Given the description of an element on the screen output the (x, y) to click on. 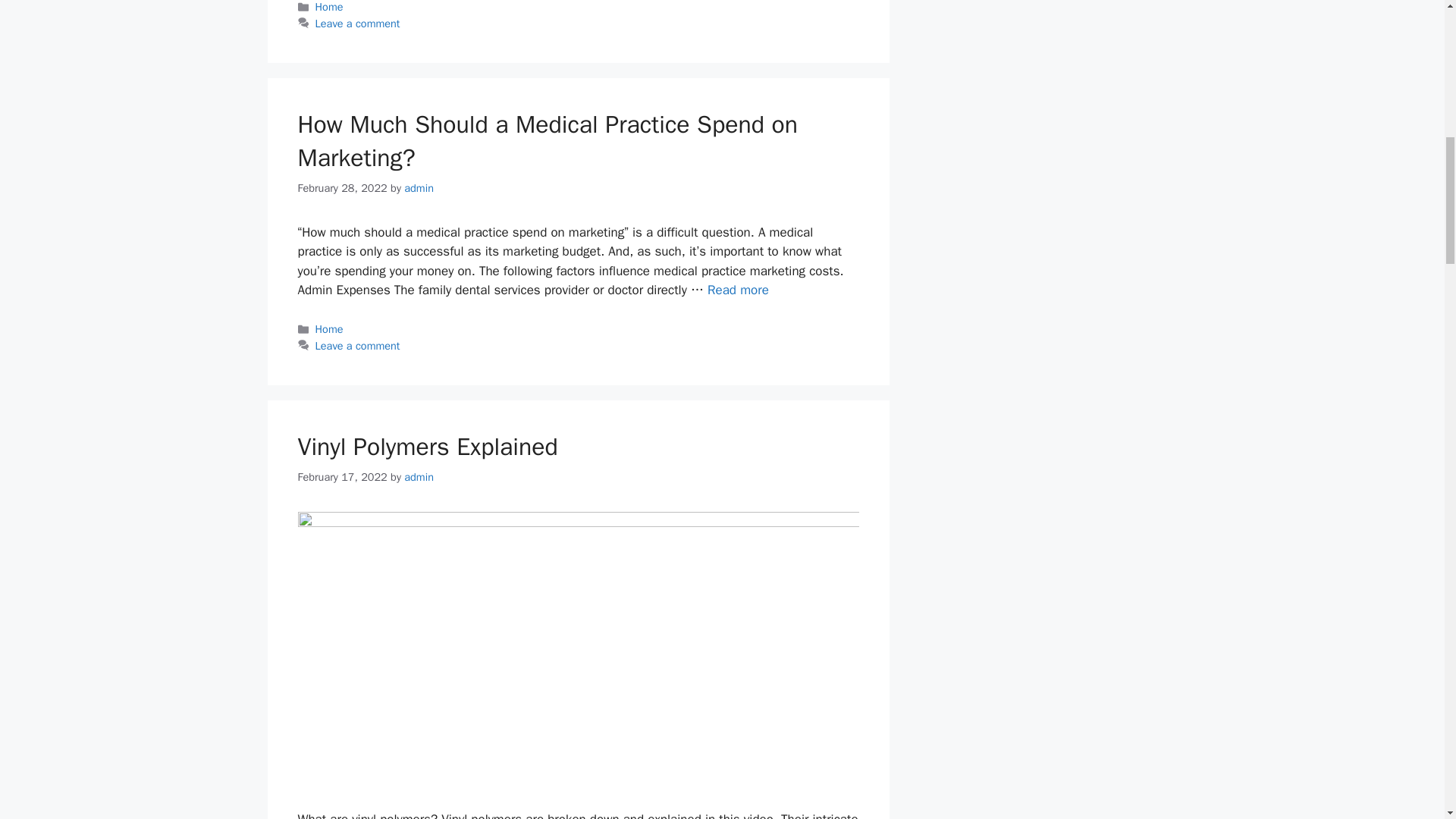
Home (329, 6)
View all posts by admin (418, 477)
admin (418, 477)
Leave a comment (357, 23)
How Much Should a Medical Practice Spend on Marketing? (547, 140)
Read more (737, 289)
How Much Should a Medical Practice Spend on Marketing? (737, 289)
View all posts by admin (418, 187)
admin (418, 187)
Home (329, 328)
Leave a comment (357, 345)
Vinyl Polymers Explained (427, 446)
